Given the description of an element on the screen output the (x, y) to click on. 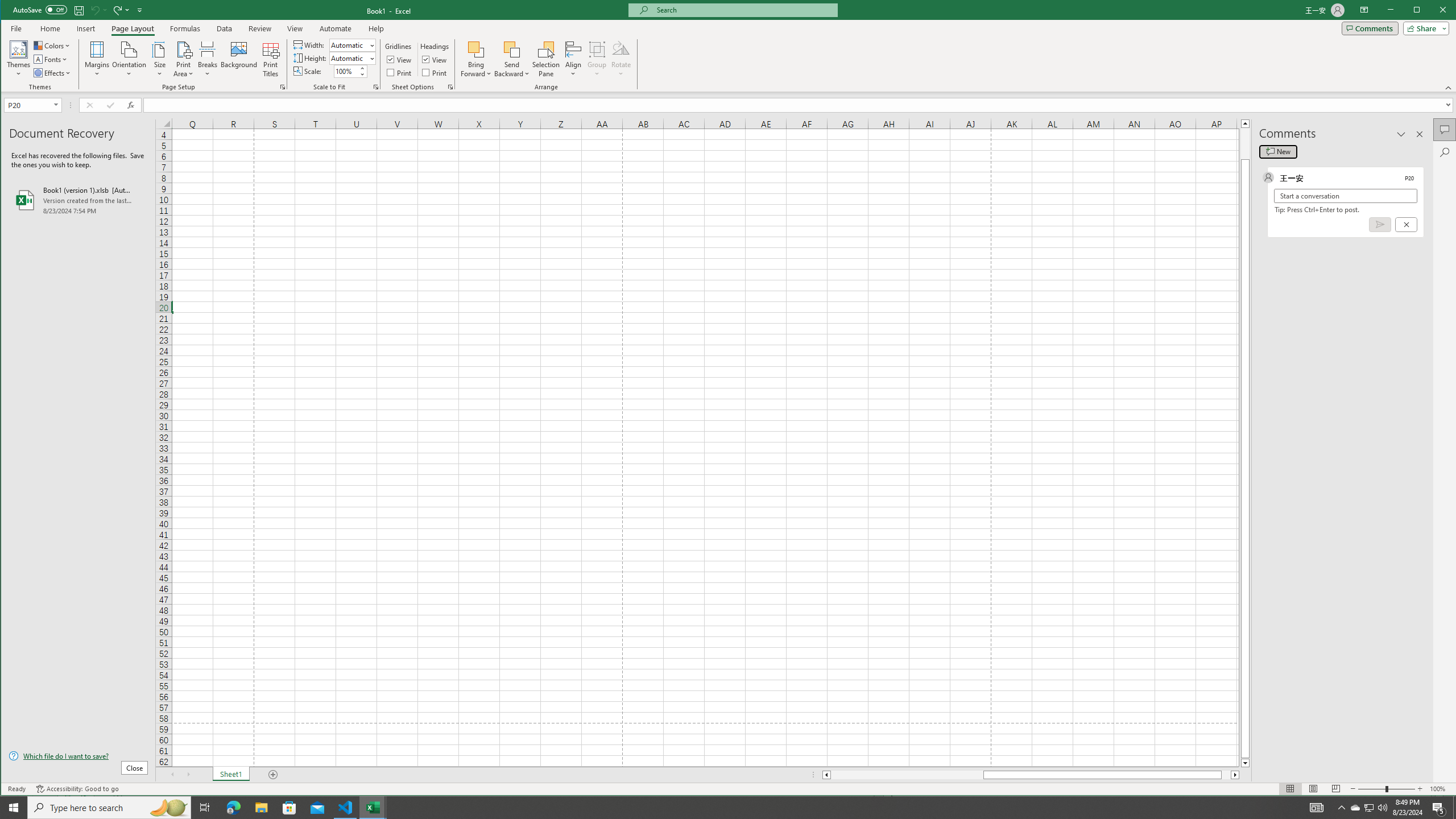
Post comment (Ctrl + Enter) (1379, 224)
Page Setup (375, 86)
Scale (345, 71)
Sheet Options (449, 86)
Page up (1245, 142)
Colors (53, 45)
Group (596, 59)
Microsoft Edge (233, 807)
Align (573, 59)
Breaks (207, 59)
